Given the description of an element on the screen output the (x, y) to click on. 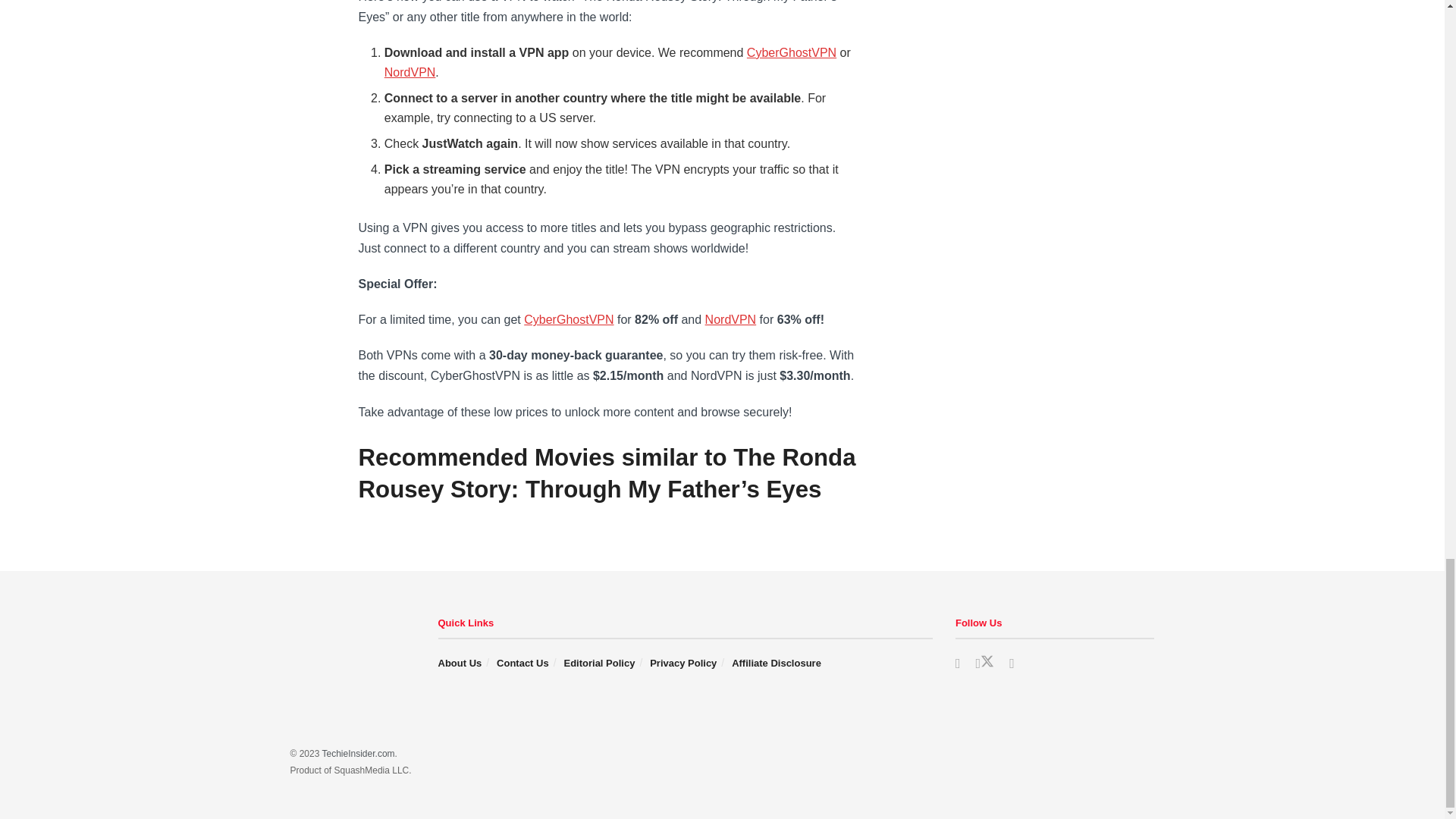
CyberGhostVPN (790, 51)
Techie Insider (357, 753)
try nordvpn (409, 72)
try nordvpn (730, 318)
cyberghostvpn (790, 51)
NordVPN (409, 72)
cyberghostvpn (568, 318)
